Given the description of an element on the screen output the (x, y) to click on. 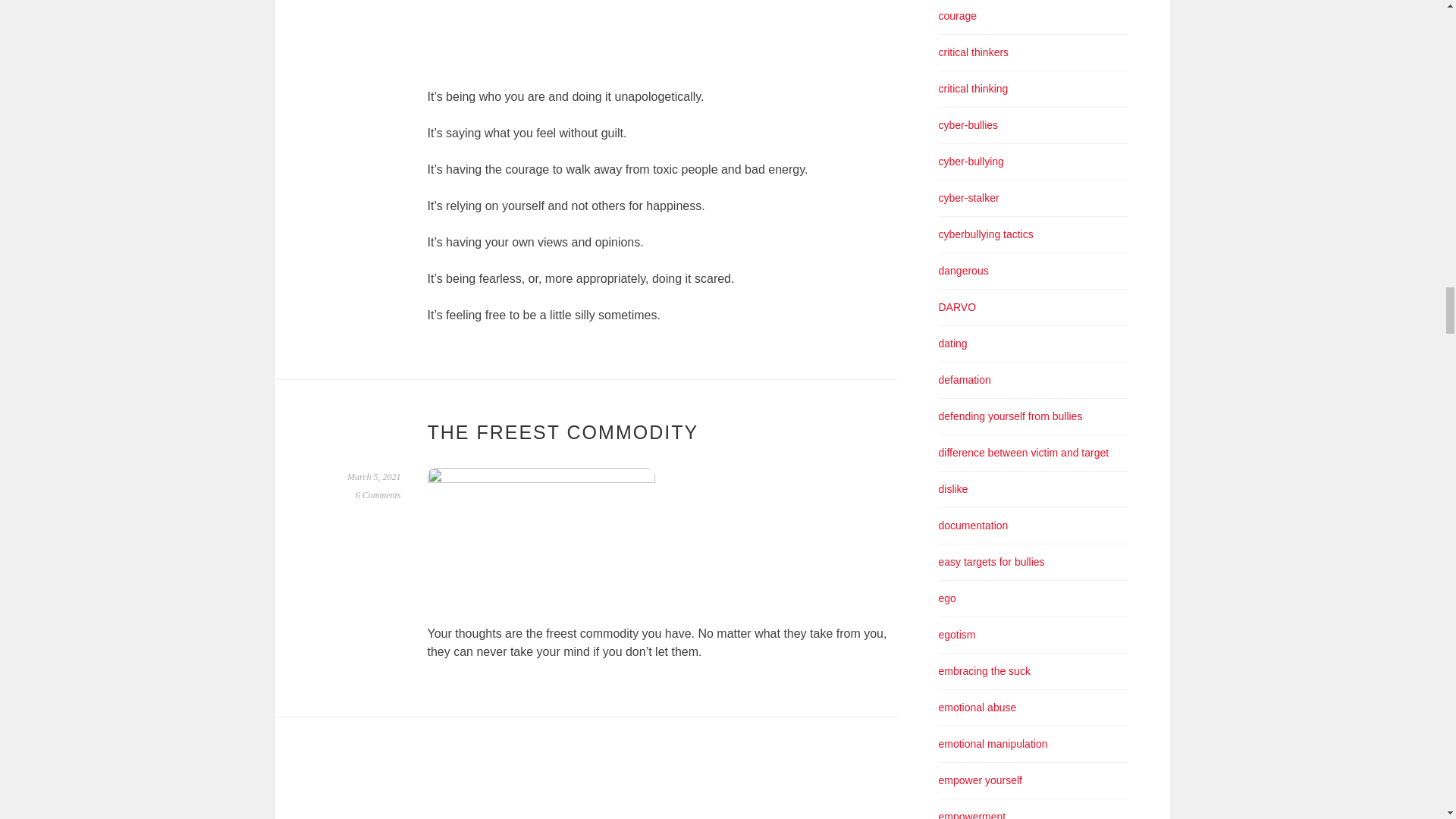
THE FREEST COMMODITY (563, 432)
March 5, 2021 (374, 476)
Permalink to The Freest Commodity (374, 476)
6 Comments (378, 494)
